Given the description of an element on the screen output the (x, y) to click on. 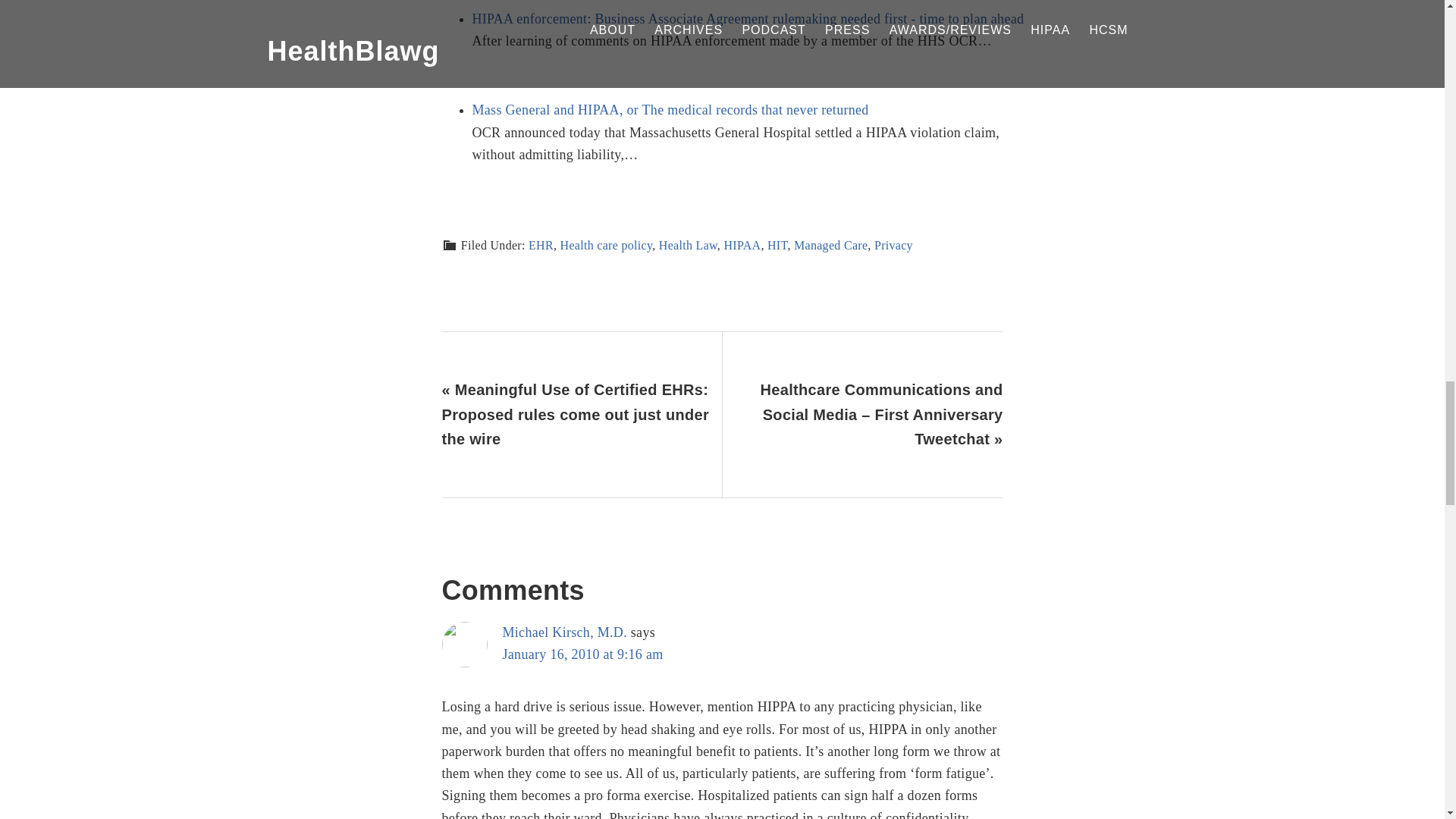
Michael Kirsch, M.D. (564, 631)
Managed Care (830, 245)
Health Law (688, 245)
HIT (777, 245)
EHR (540, 245)
Health care policy (606, 245)
Privacy (893, 245)
January 16, 2010 at 9:16 am (582, 654)
HIPAA (741, 245)
